Given the description of an element on the screen output the (x, y) to click on. 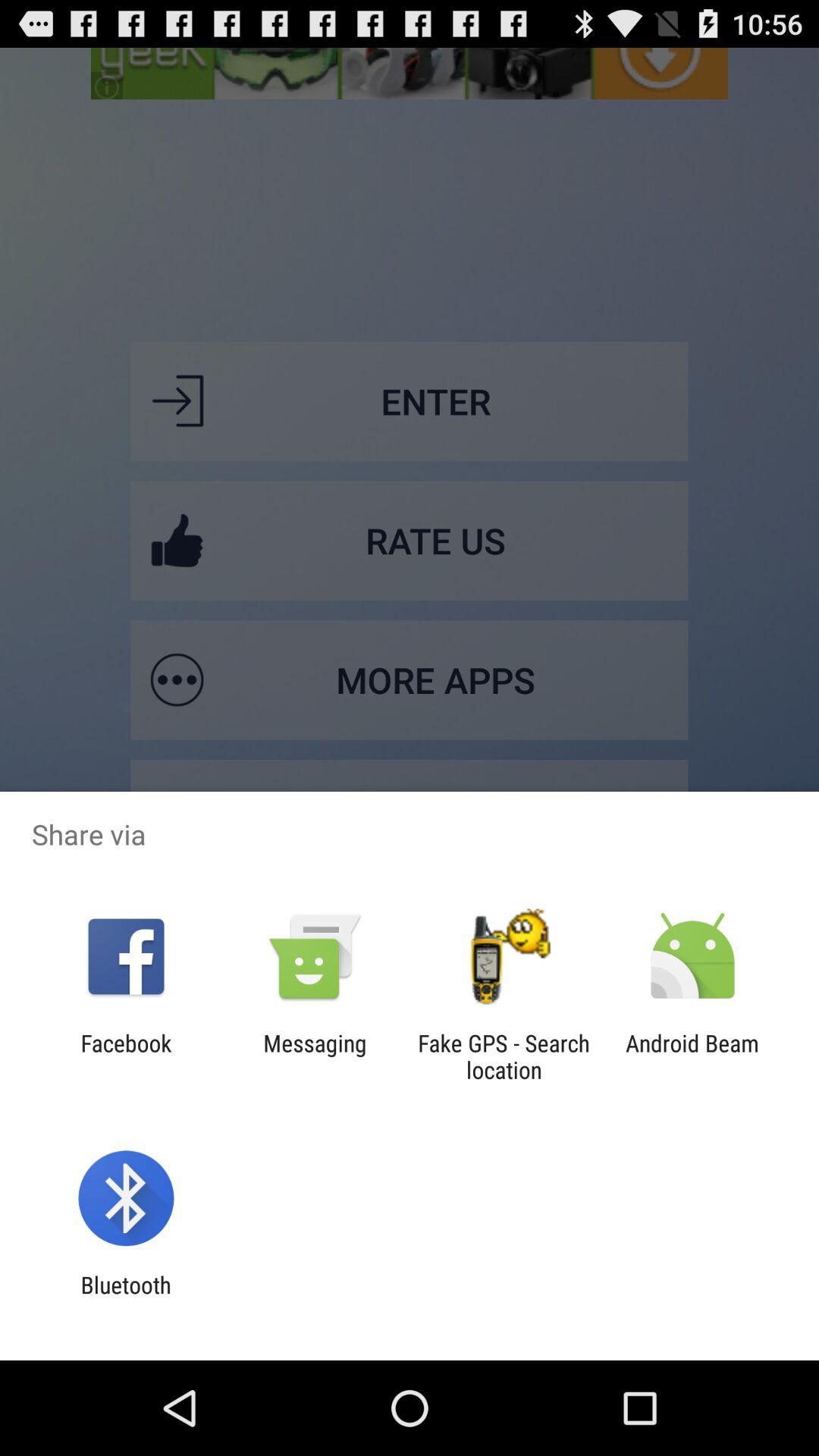
scroll until android beam item (692, 1056)
